Given the description of an element on the screen output the (x, y) to click on. 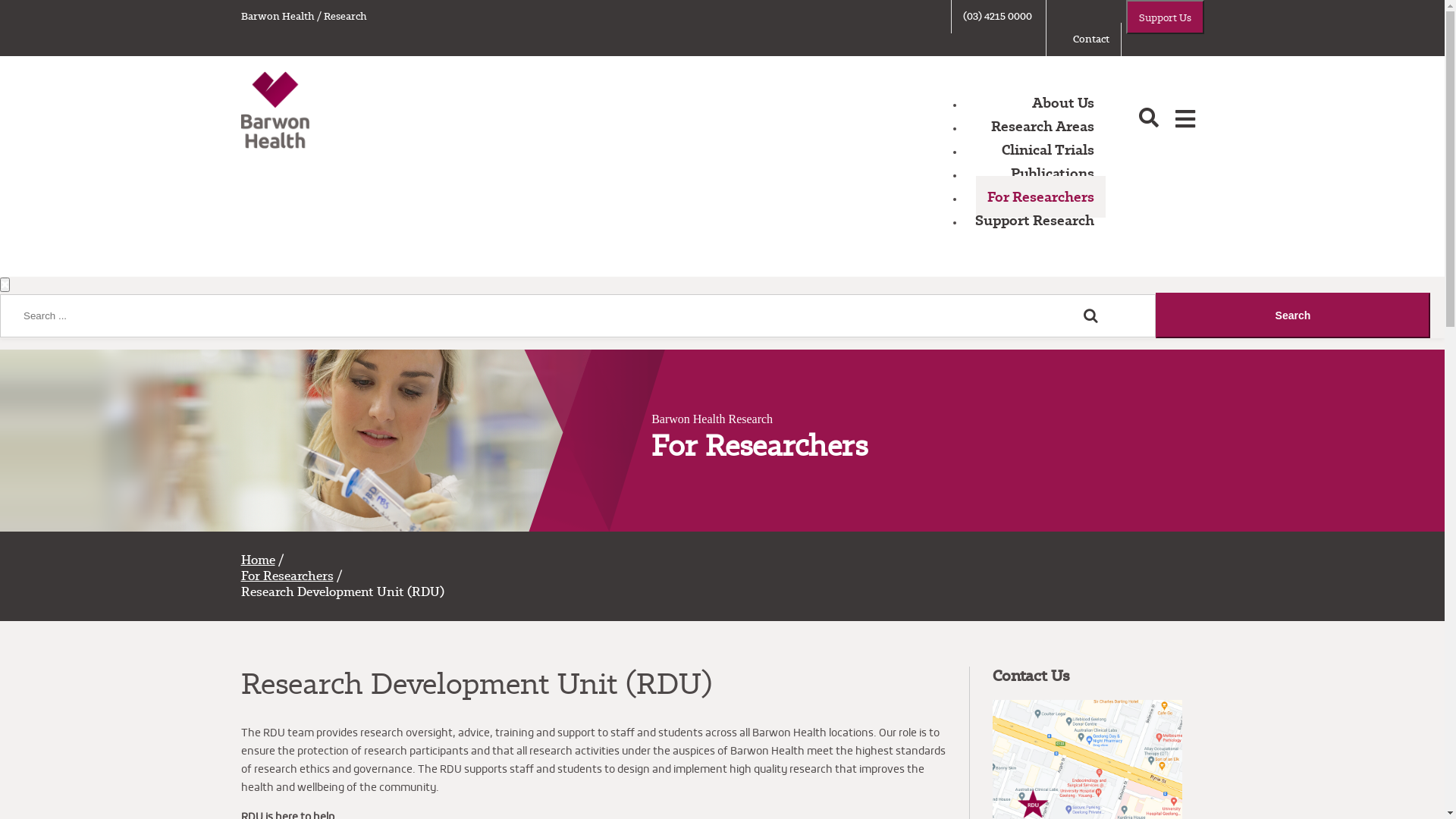
For Researchers Element type: text (1040, 196)
Research Areas Element type: text (1042, 126)
Support Us Element type: text (1164, 17)
Support Research Element type: text (1034, 220)
About Us Element type: text (1062, 102)
For Researchers Element type: text (287, 575)
Publications Element type: text (1052, 173)
Contact Element type: text (1090, 39)
Clinical Trials Element type: text (1047, 149)
Search Element type: text (1292, 315)
Support Us Element type: text (1164, 17)
Home Element type: text (258, 559)
